Given the description of an element on the screen output the (x, y) to click on. 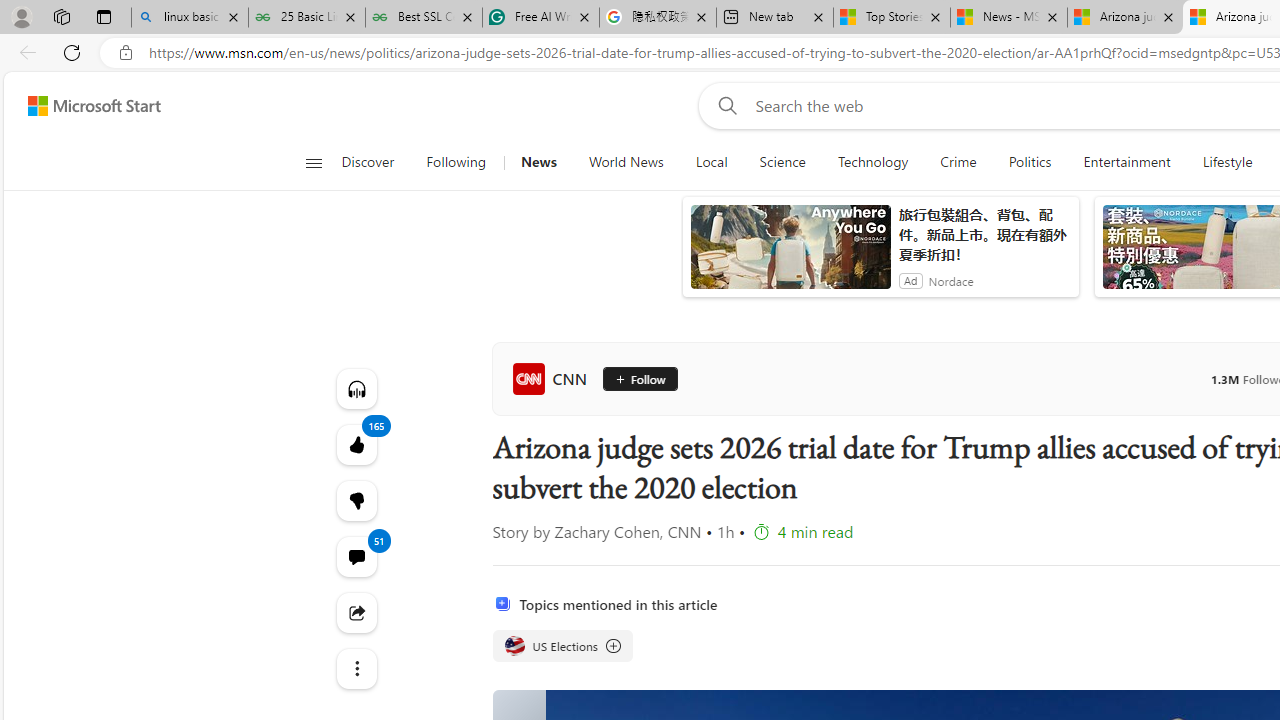
World News (625, 162)
US Elections US Elections US Elections (562, 645)
Open navigation menu (313, 162)
US Elections (562, 645)
Web search (724, 105)
Follow (631, 378)
Class: at-item (356, 668)
Technology (872, 162)
Entertainment (1126, 162)
